Given the description of an element on the screen output the (x, y) to click on. 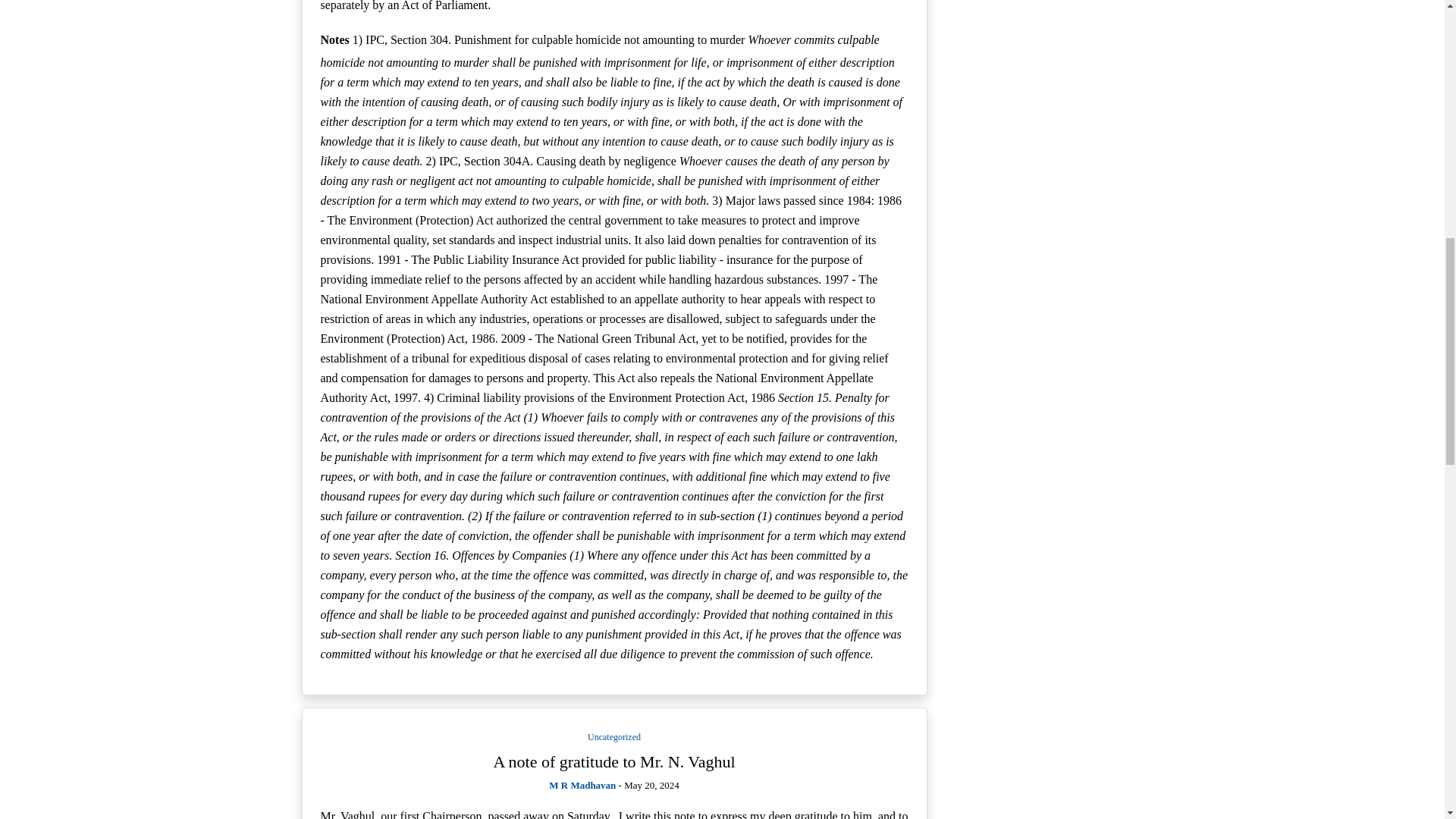
View (614, 761)
